Given the description of an element on the screen output the (x, y) to click on. 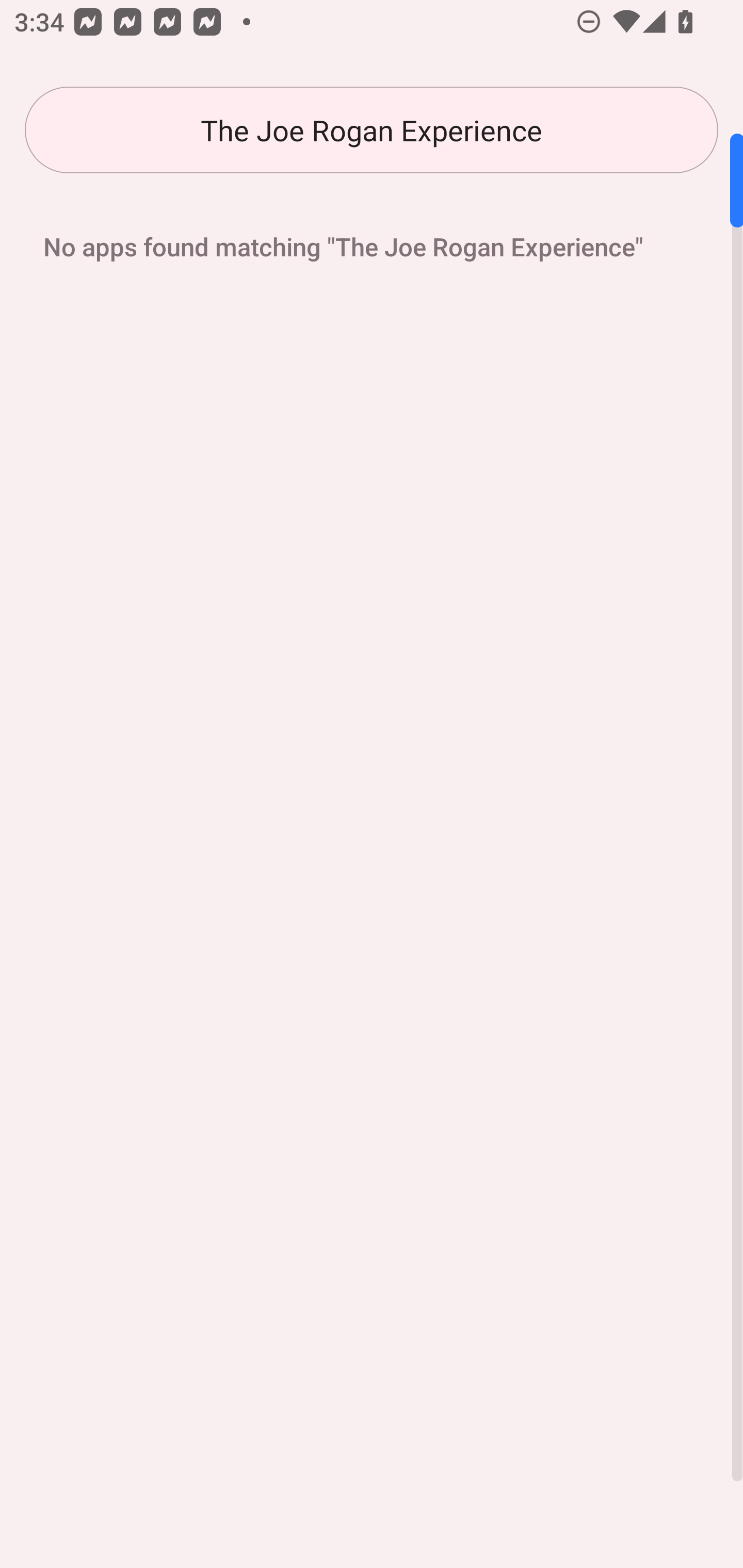
The Joe Rogan Experience (371, 130)
